Given the description of an element on the screen output the (x, y) to click on. 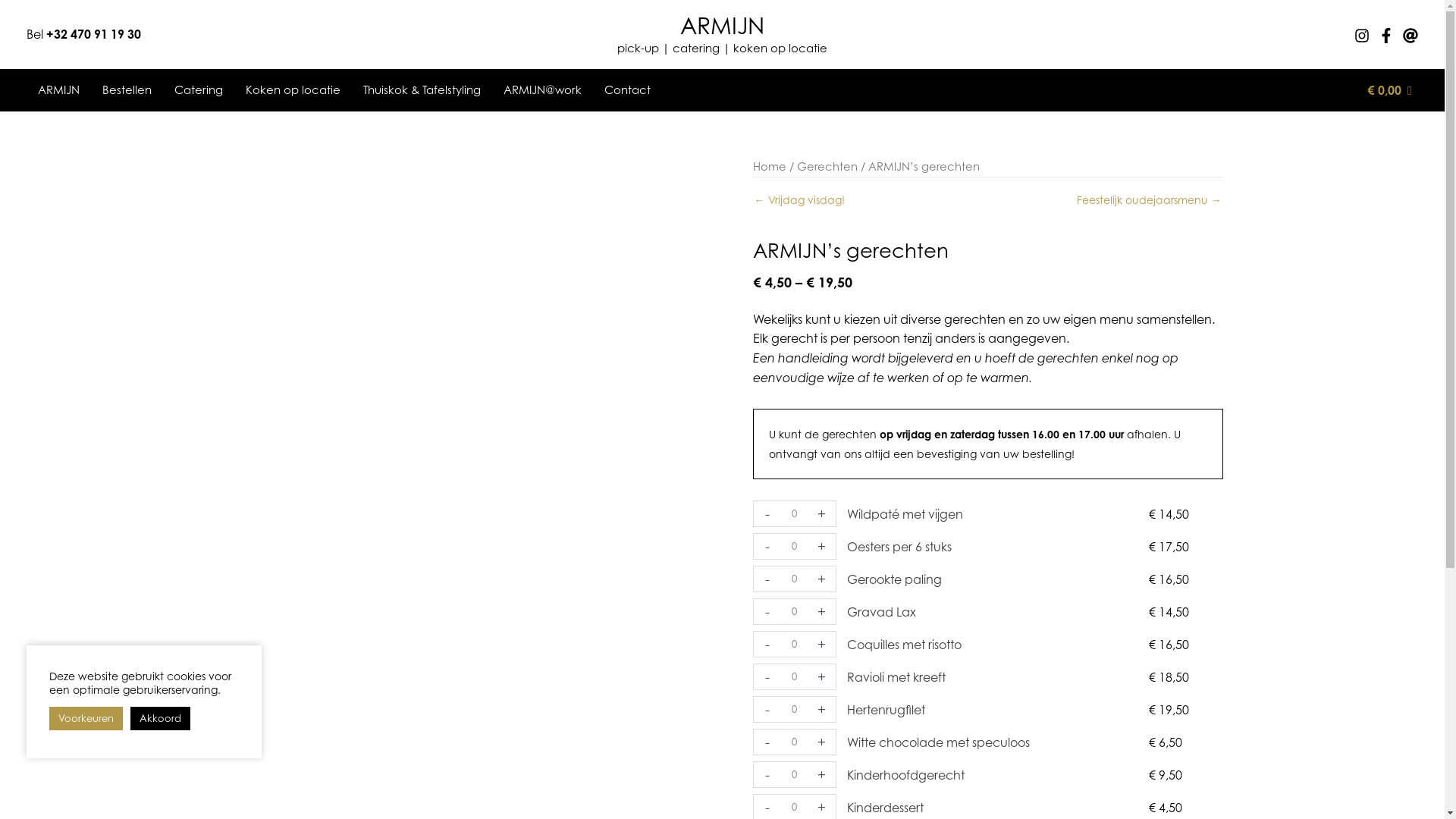
+ Element type: text (821, 546)
ARMIJN Element type: text (58, 90)
Koken op locatie Element type: text (292, 90)
Voorkeuren Element type: text (85, 718)
Akkoord Element type: text (160, 718)
Gravad Lax Element type: text (881, 611)
+ Element type: text (821, 709)
- Element type: text (766, 546)
Contact Element type: text (627, 90)
+ Element type: text (821, 774)
Witte chocolade met speculoos Element type: text (938, 741)
ARMIJN@work Element type: text (542, 90)
+ Element type: text (821, 513)
Coquilles met risotto Element type: text (904, 644)
Kinderhoofdgerecht Element type: text (905, 774)
- Element type: text (766, 709)
Bestellen Element type: text (127, 90)
- Element type: text (766, 676)
- Element type: text (766, 513)
Kinderdessert Element type: text (885, 807)
Hertenrugfilet Element type: text (886, 709)
Oesters per 6 stuks Element type: text (899, 546)
ARMIJN Element type: text (722, 25)
+ Element type: text (821, 676)
+32 470 91 19 30 Element type: text (93, 33)
Home Element type: text (768, 165)
- Element type: text (766, 774)
+ Element type: text (821, 578)
Catering Element type: text (198, 90)
Ravioli met kreeft Element type: text (896, 676)
Gerookte paling Element type: text (894, 578)
- Element type: text (766, 643)
+ Element type: text (821, 741)
Gerechten Element type: text (826, 165)
+ Element type: text (821, 611)
+ Element type: text (821, 643)
- Element type: text (766, 611)
- Element type: text (766, 741)
Thuiskok & Tafelstyling Element type: text (421, 90)
- Element type: text (766, 578)
